Given the description of an element on the screen output the (x, y) to click on. 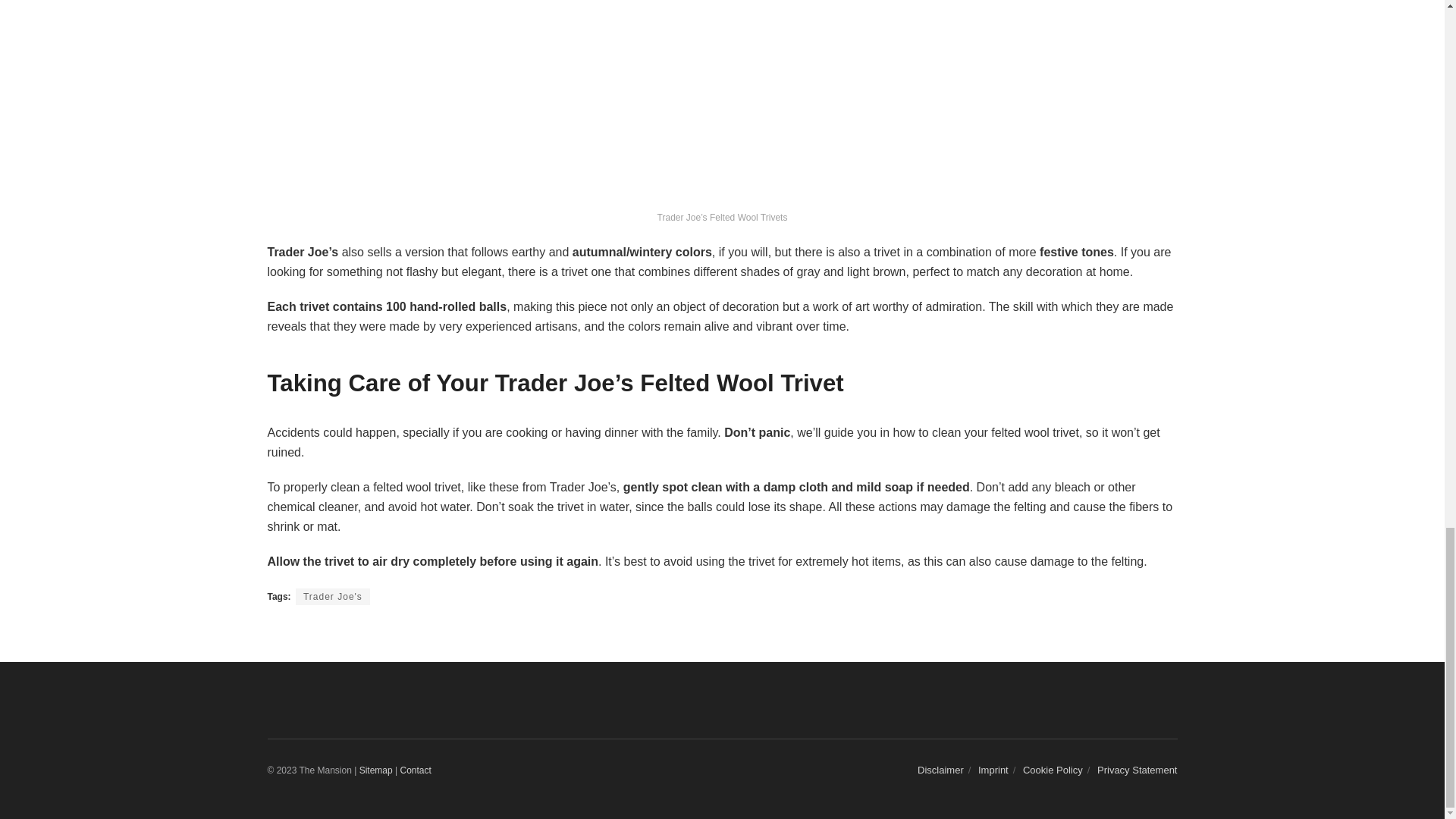
Disclaimer (940, 769)
Sitemap (376, 769)
Cookie Policy (1053, 769)
Privacy Statement (1137, 769)
Contact (414, 769)
Trader Joe's (332, 596)
Imprint (993, 769)
